Given the description of an element on the screen output the (x, y) to click on. 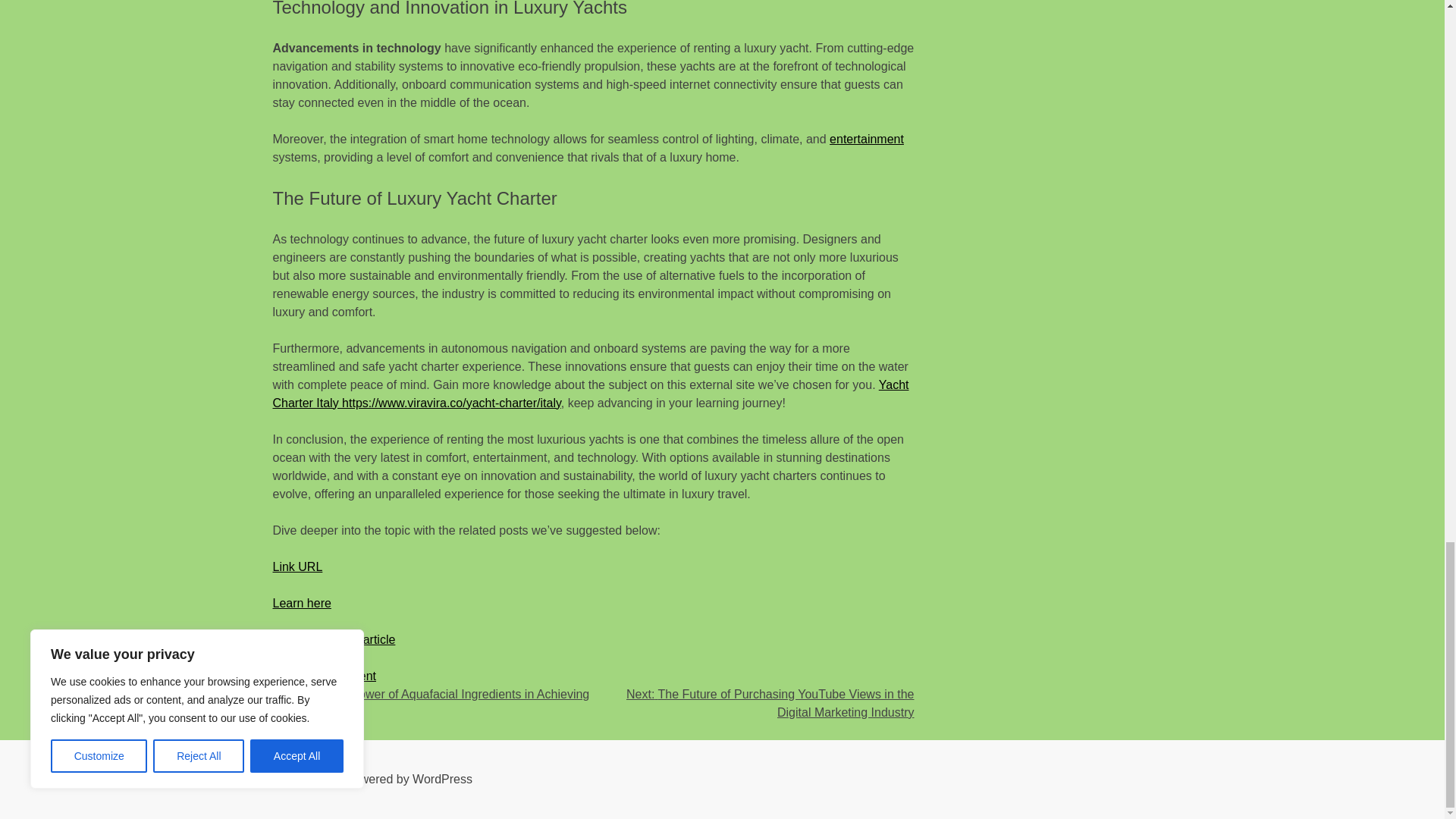
Link URL (298, 566)
Read this useful article (334, 639)
entertainment (866, 138)
Learn here (302, 603)
